Given the description of an element on the screen output the (x, y) to click on. 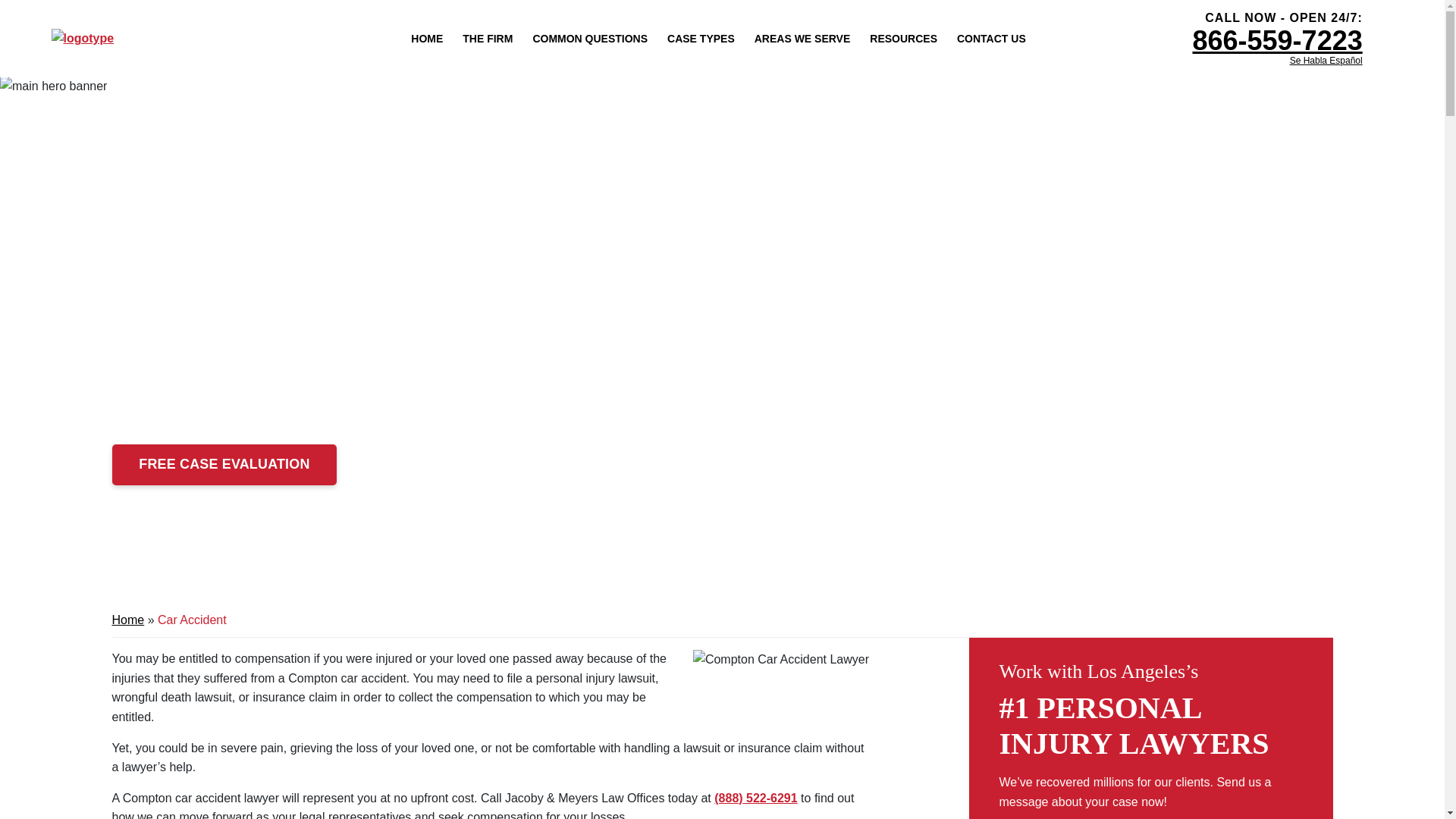
CONTACT US (991, 38)
AREAS WE SERVE (802, 38)
866-559-7223 (1276, 40)
HOME (426, 38)
FREE CASE EVALUATION (224, 464)
THE FIRM (486, 38)
CASE TYPES (701, 38)
RESOURCES (903, 38)
COMMON QUESTIONS (589, 38)
